Given the description of an element on the screen output the (x, y) to click on. 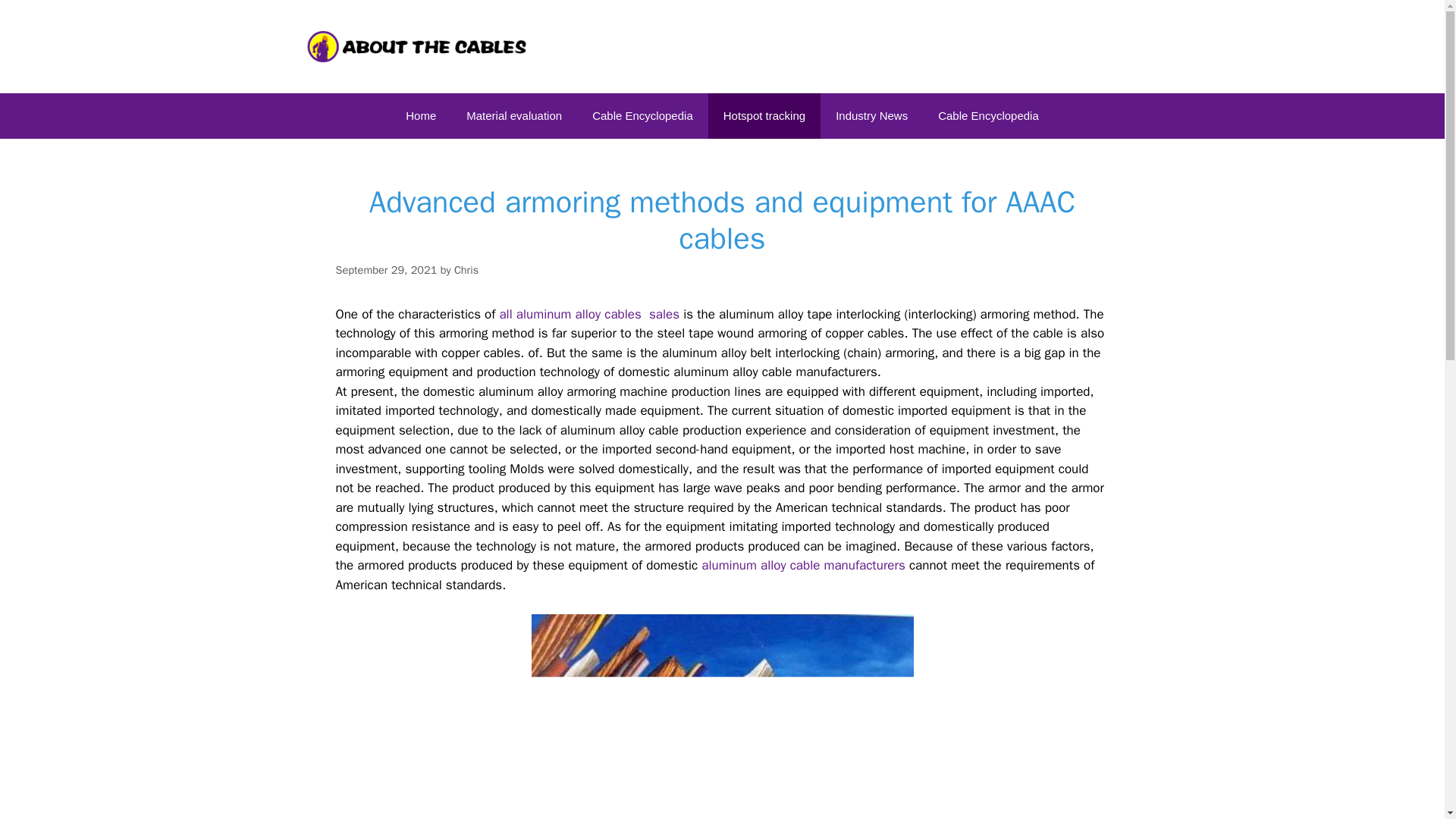
Cable Encyclopedia (988, 115)
September 29, 2021 (385, 269)
Industry News (872, 115)
Home (420, 115)
Hotspot tracking (764, 115)
Chris' s Cable (418, 46)
Chris' s Cable (418, 45)
aluminum alloy cable manufacturers (801, 565)
Chris (466, 269)
6:37 am (385, 269)
Material evaluation (513, 115)
all aluminum alloy cables  sales (589, 314)
View all posts by Chris (466, 269)
Cable Encyclopedia (641, 115)
